Given the description of an element on the screen output the (x, y) to click on. 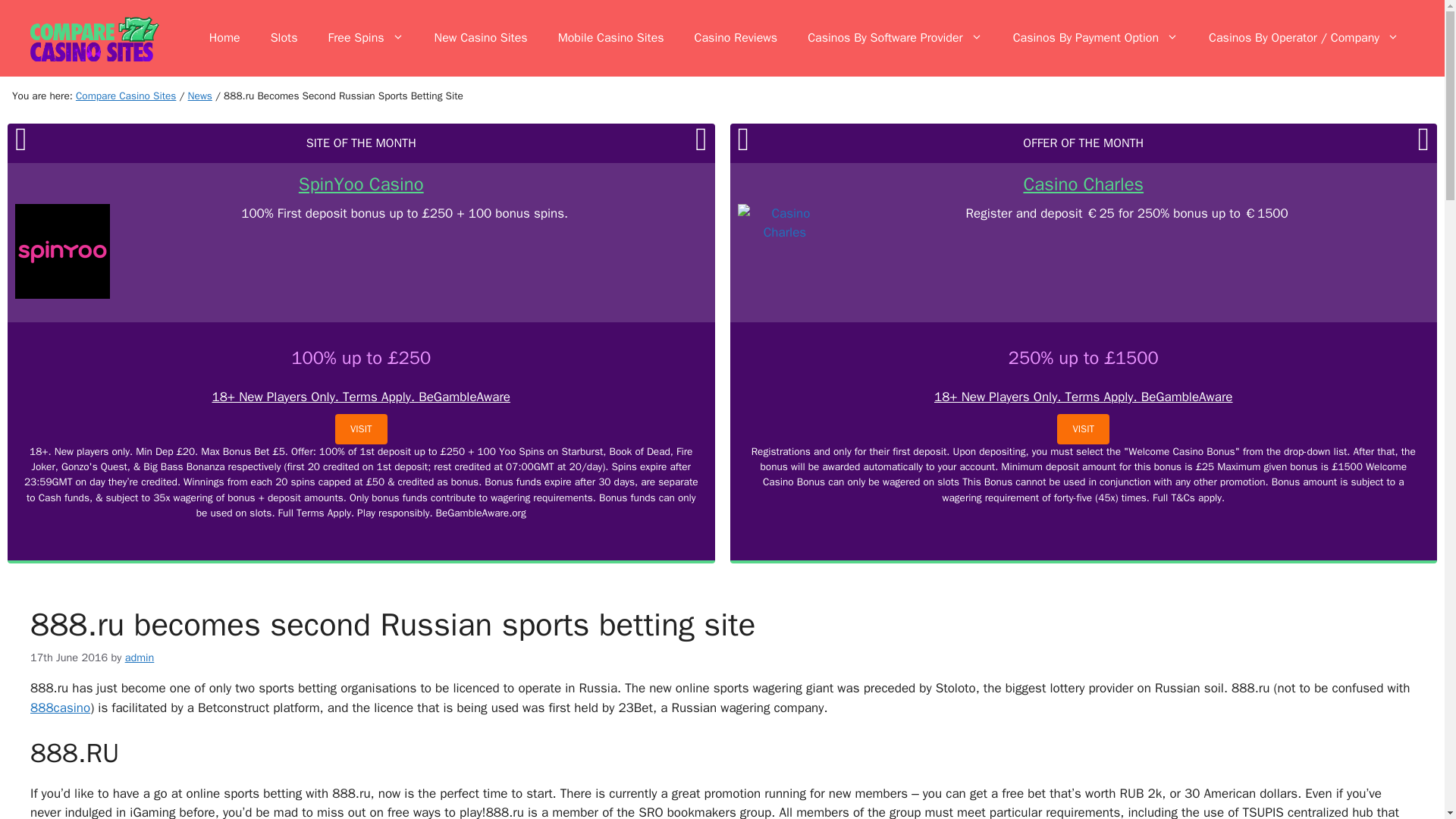
Free Spins (366, 37)
Home (224, 37)
New Casino Sites (481, 37)
Compare Casino Sites (125, 95)
Mobile Casino Sites (611, 37)
News (199, 95)
Casinos By Software Provider (894, 37)
Casinos By Payment Option (1095, 37)
Item (199, 95)
View all posts by admin (139, 657)
